Given the description of an element on the screen output the (x, y) to click on. 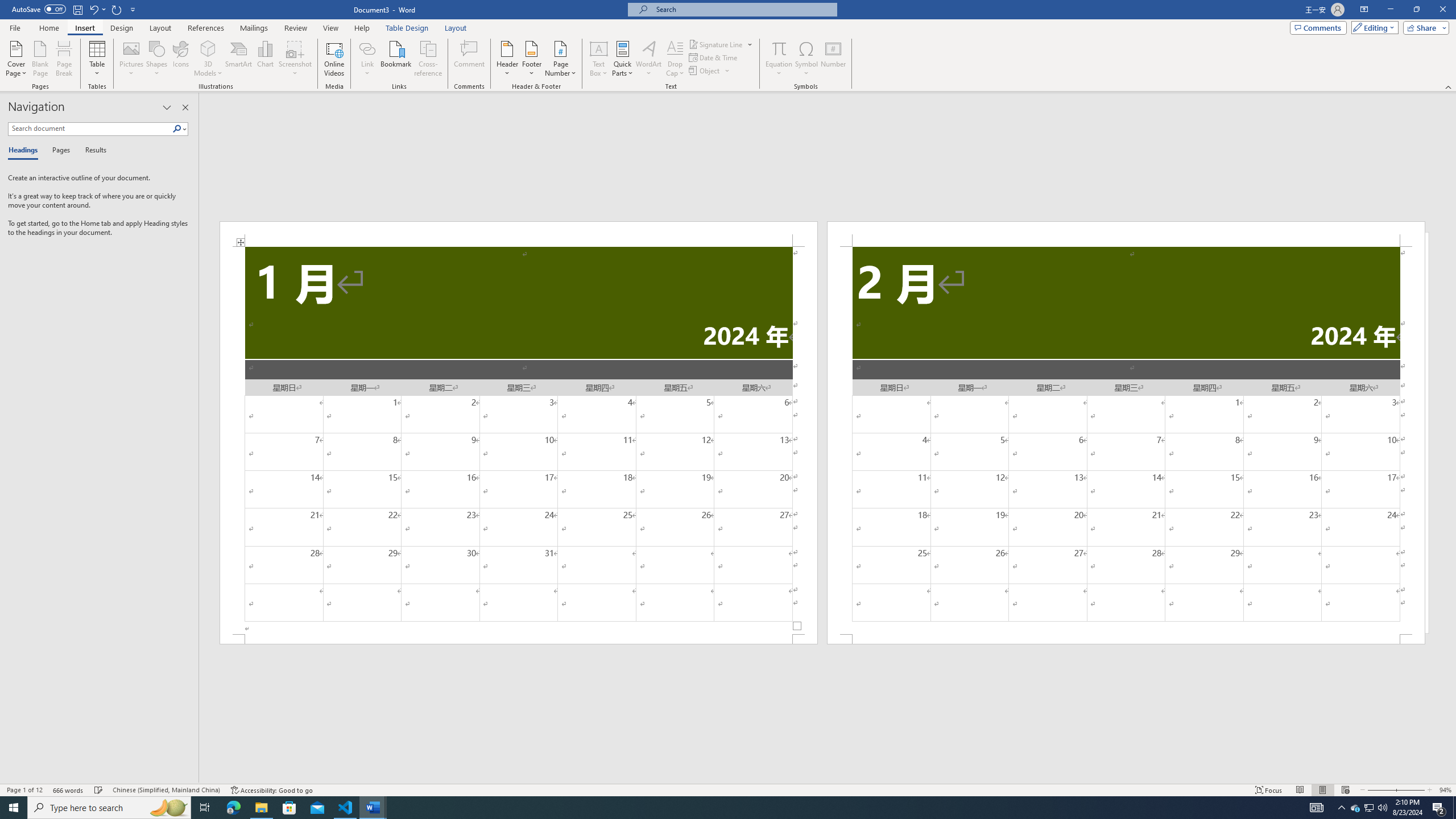
SmartArt... (238, 58)
Drop Cap (674, 58)
Signature Line (716, 44)
Blank Page (40, 58)
